Given the description of an element on the screen output the (x, y) to click on. 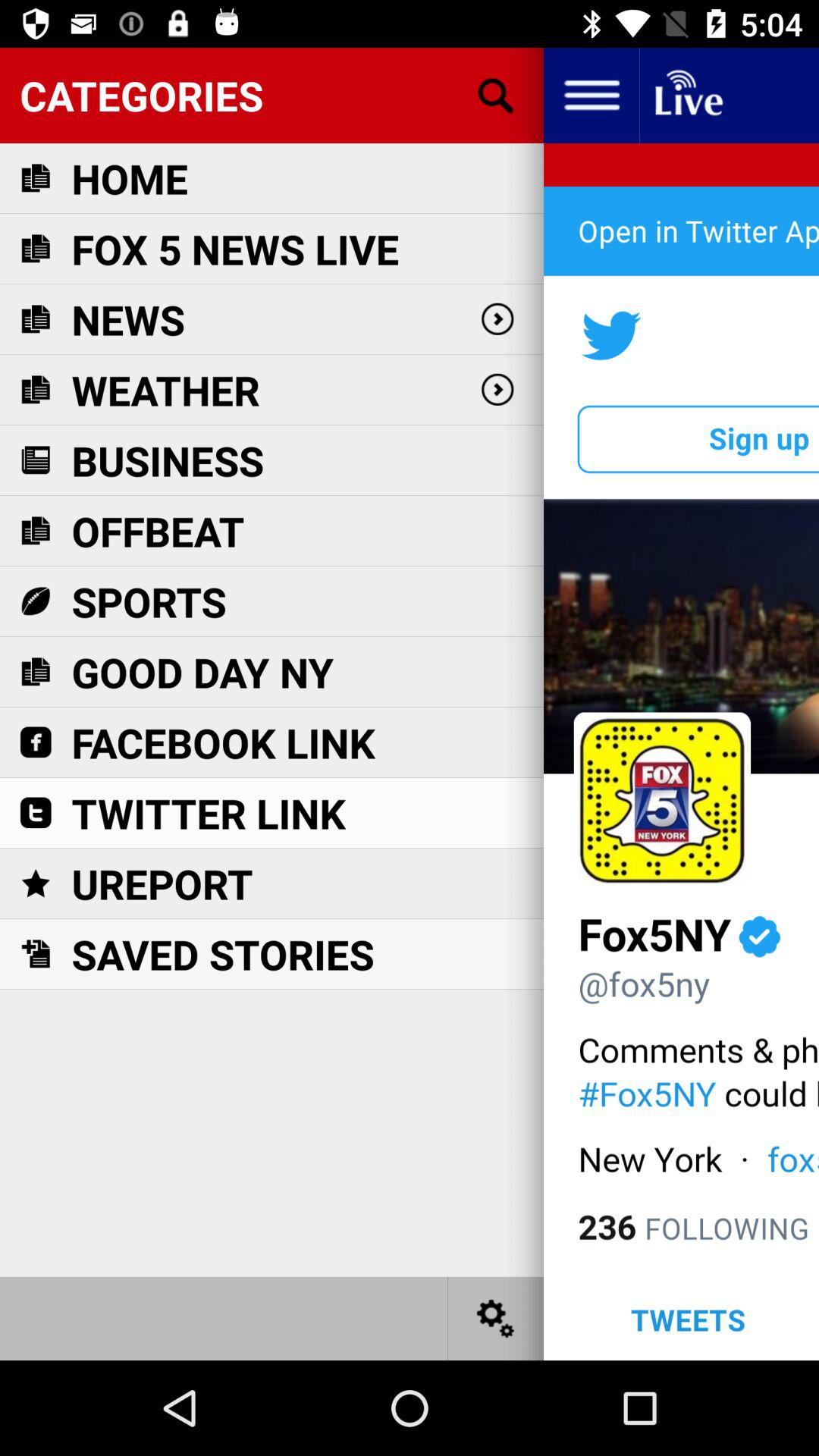
settings menu (495, 1318)
